Given the description of an element on the screen output the (x, y) to click on. 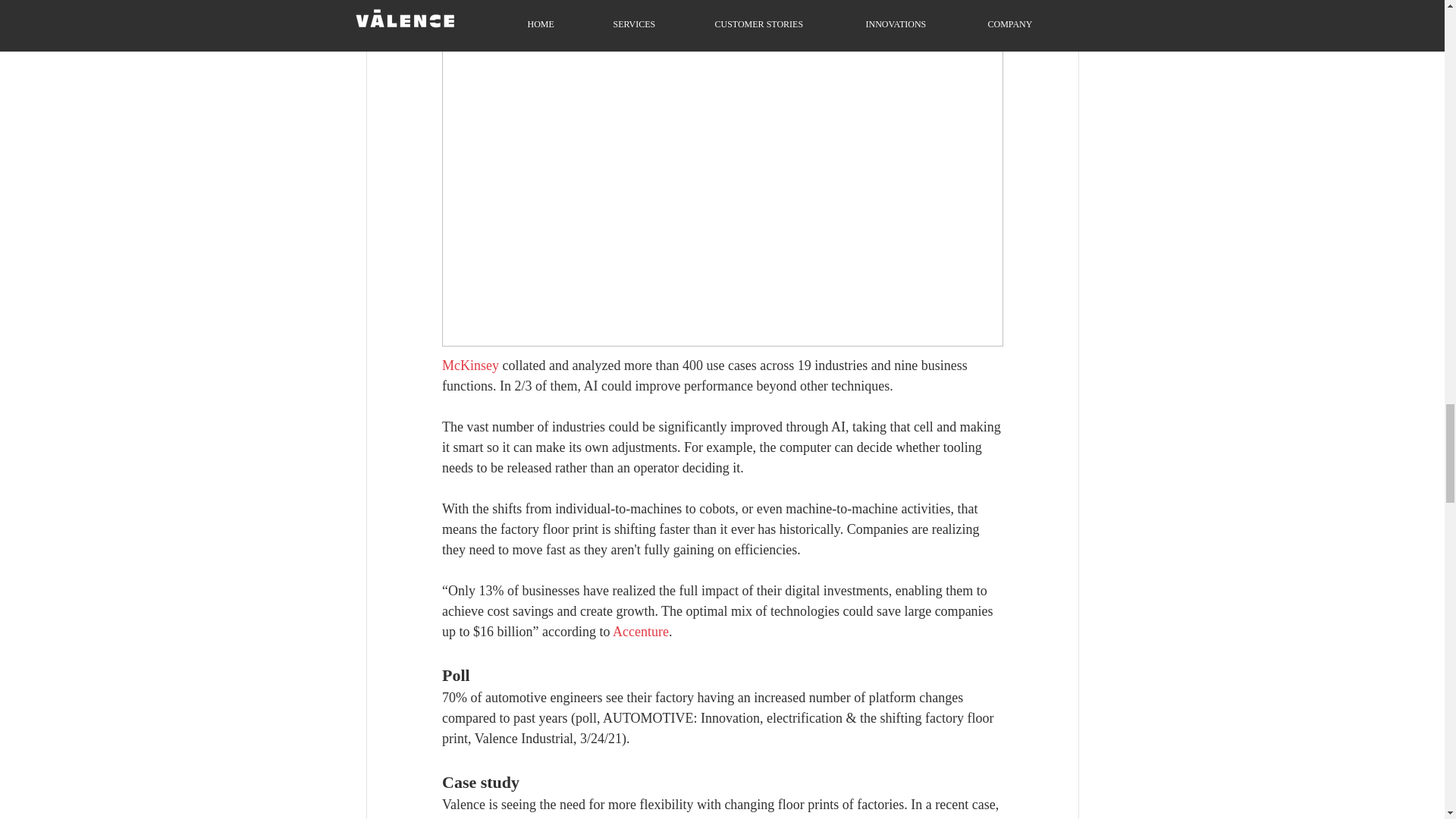
Accenture (639, 631)
McKinsey (469, 365)
